Given the description of an element on the screen output the (x, y) to click on. 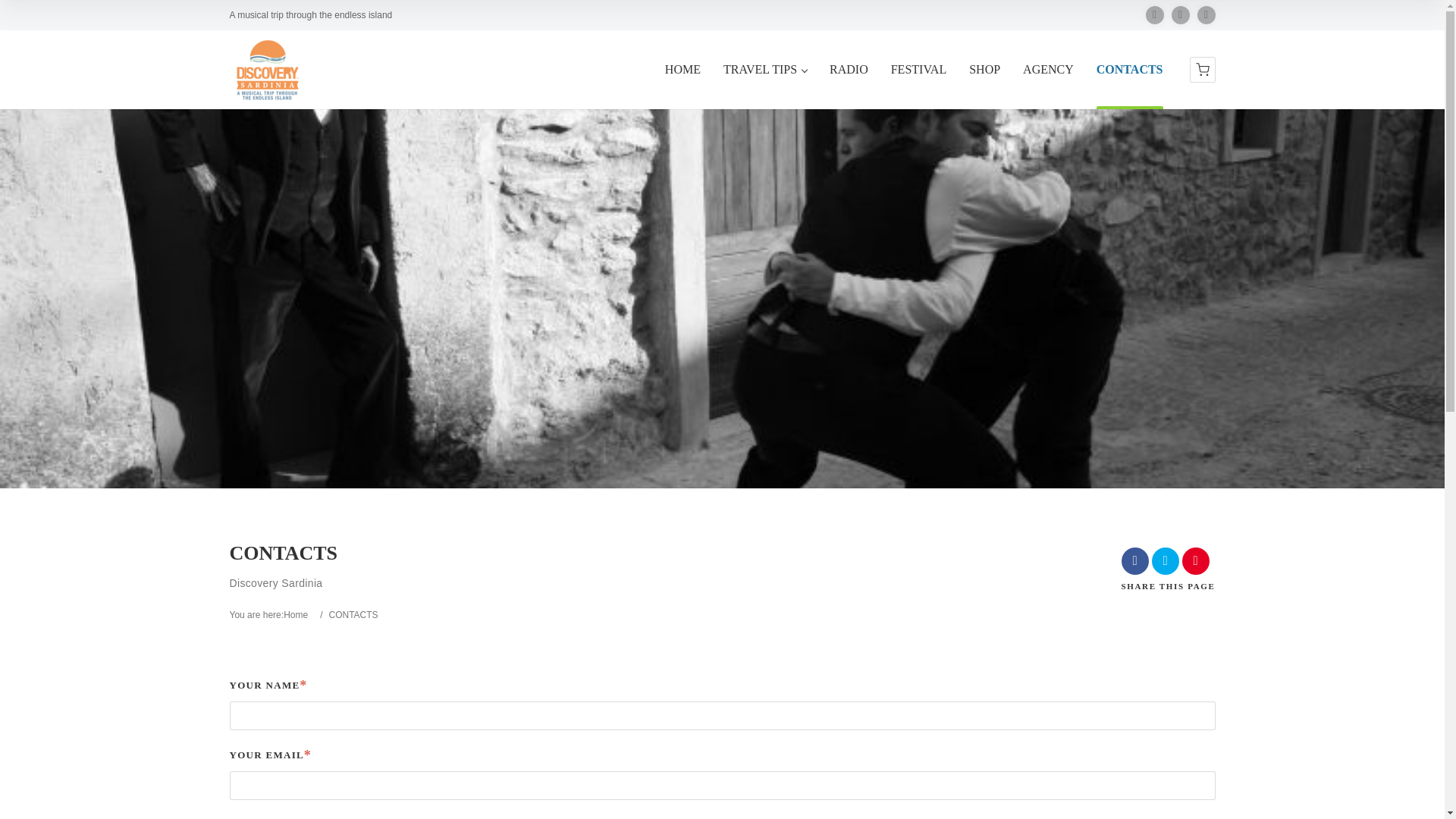
CONTACTS (1129, 85)
Discovery Sardinia (266, 69)
TRAVEL TIPS (764, 85)
FESTIVAL (919, 85)
AGENCY (1048, 85)
Discovery Sardinia (298, 614)
